Given the description of an element on the screen output the (x, y) to click on. 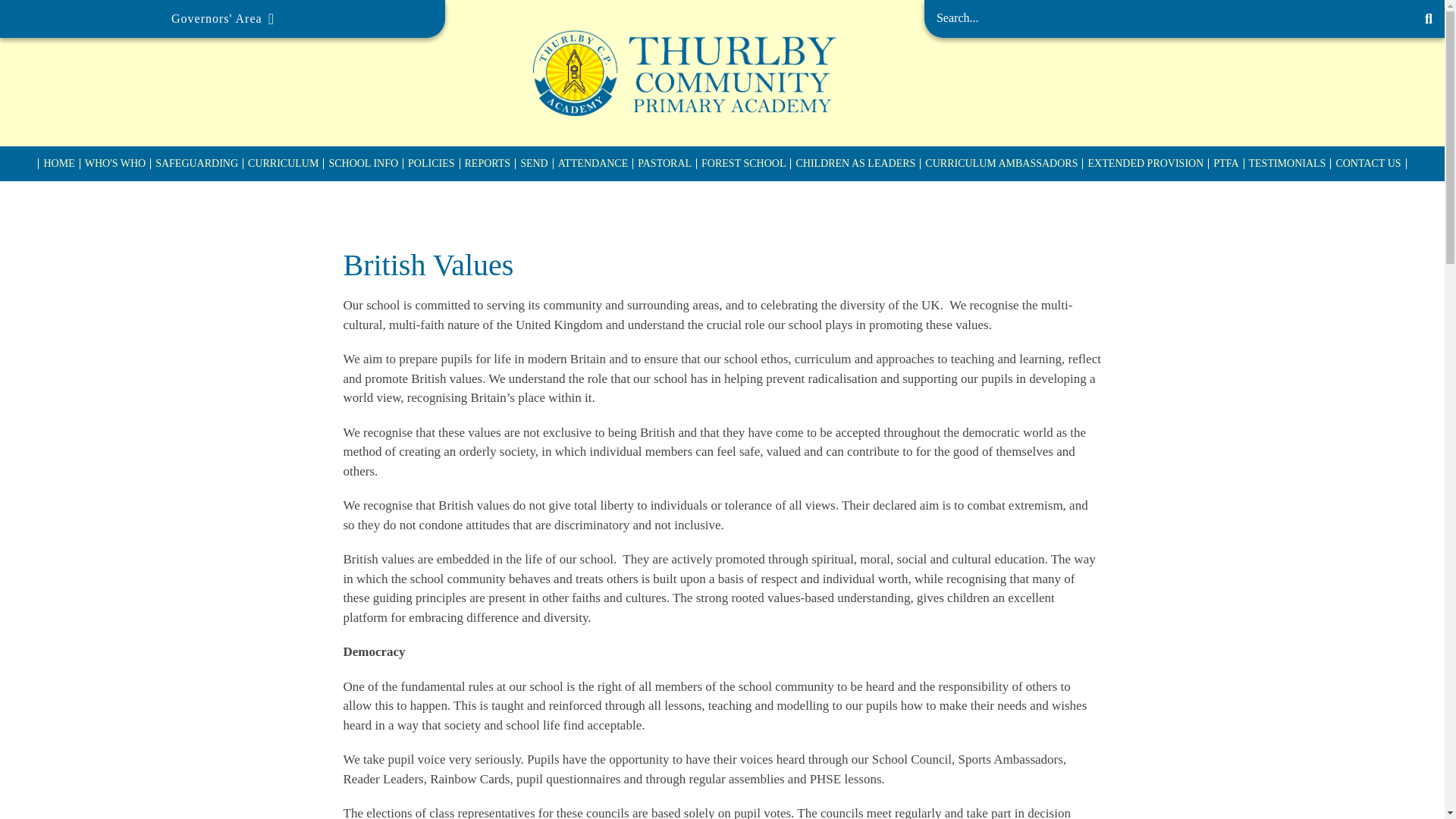
CURRICULUM (283, 163)
SAFEGUARDING (196, 163)
WHO'S WHO (114, 163)
HOME (57, 163)
Governors' Area (222, 18)
SCHOOL INFO (363, 163)
